Given the description of an element on the screen output the (x, y) to click on. 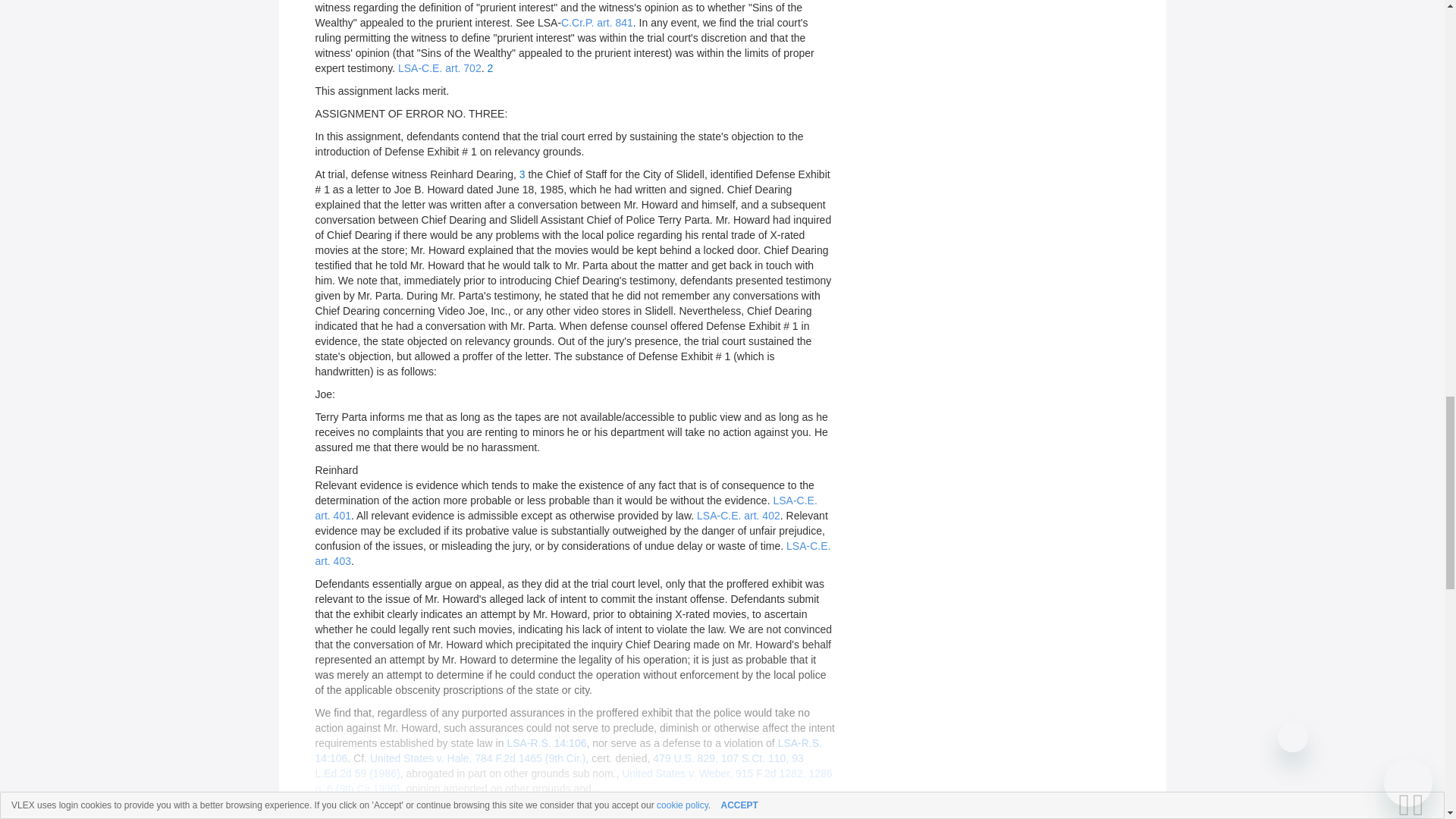
LSA-R.S. 14:106 (568, 750)
C.Cr.P. art. 841 (596, 22)
LSA-R.S. 14:106 (546, 743)
LSA-C.E. art. 702 (439, 68)
LSA-C.E. art. 401 (565, 507)
LSA-C.E. art. 402 (738, 515)
LSA-C.E. art. 403 (573, 553)
